Given the description of an element on the screen output the (x, y) to click on. 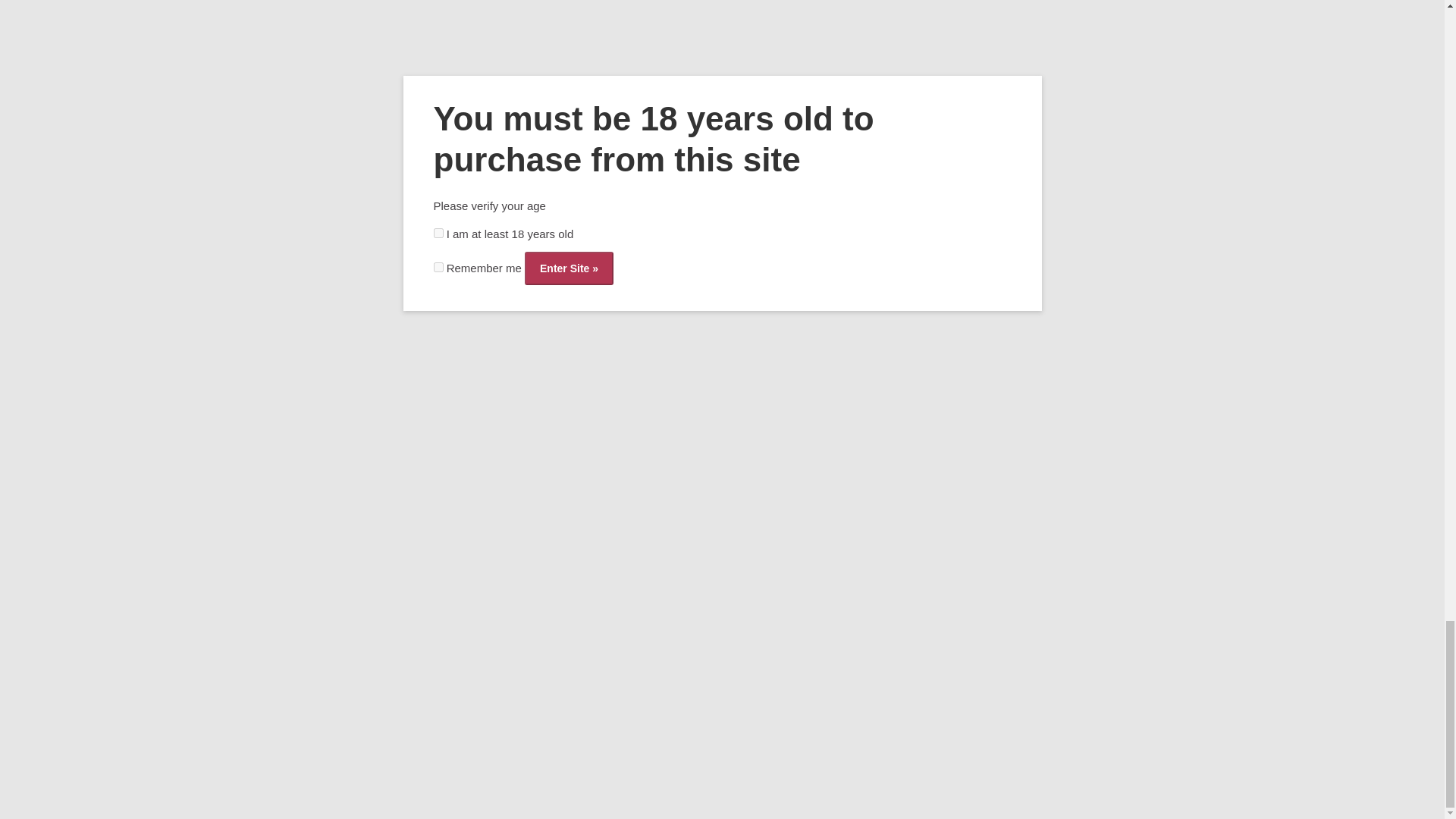
Sign up (299, 517)
